Given the description of an element on the screen output the (x, y) to click on. 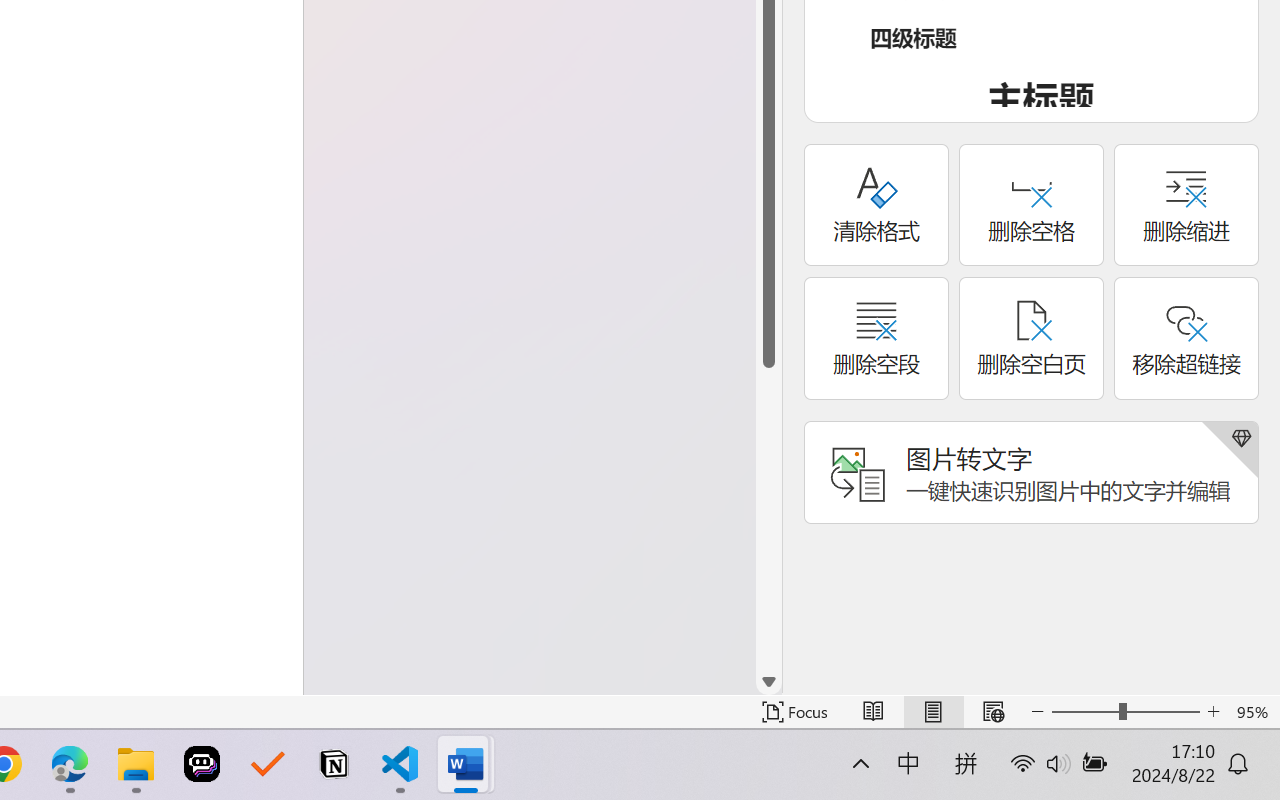
Zoom 95% (1253, 712)
Page down (769, 518)
